Given the description of an element on the screen output the (x, y) to click on. 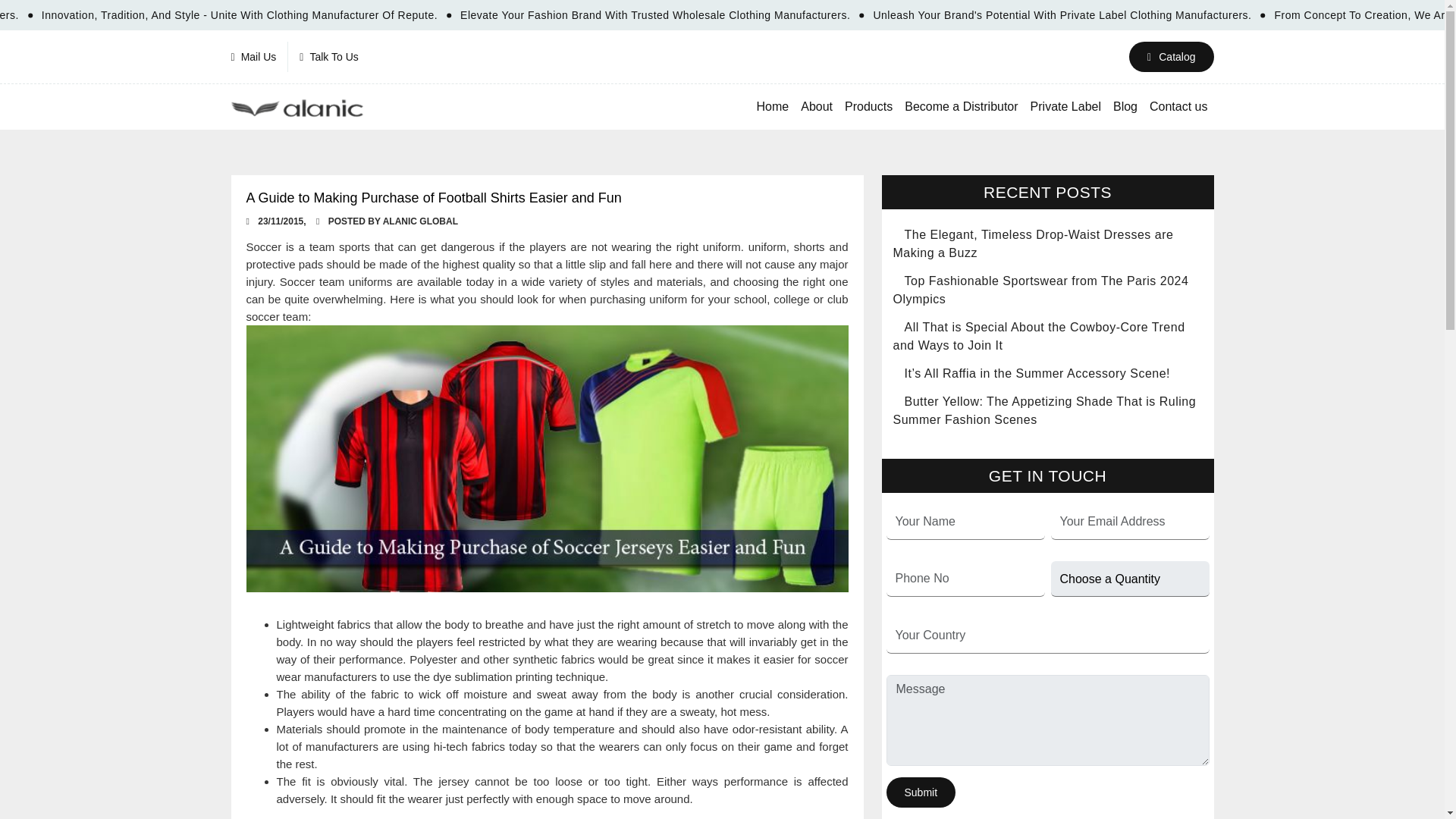
About (816, 106)
Mail Us (259, 56)
Home (772, 106)
Home (772, 106)
Catalog (1170, 56)
Products (868, 106)
submit (920, 792)
About (816, 106)
